Given the description of an element on the screen output the (x, y) to click on. 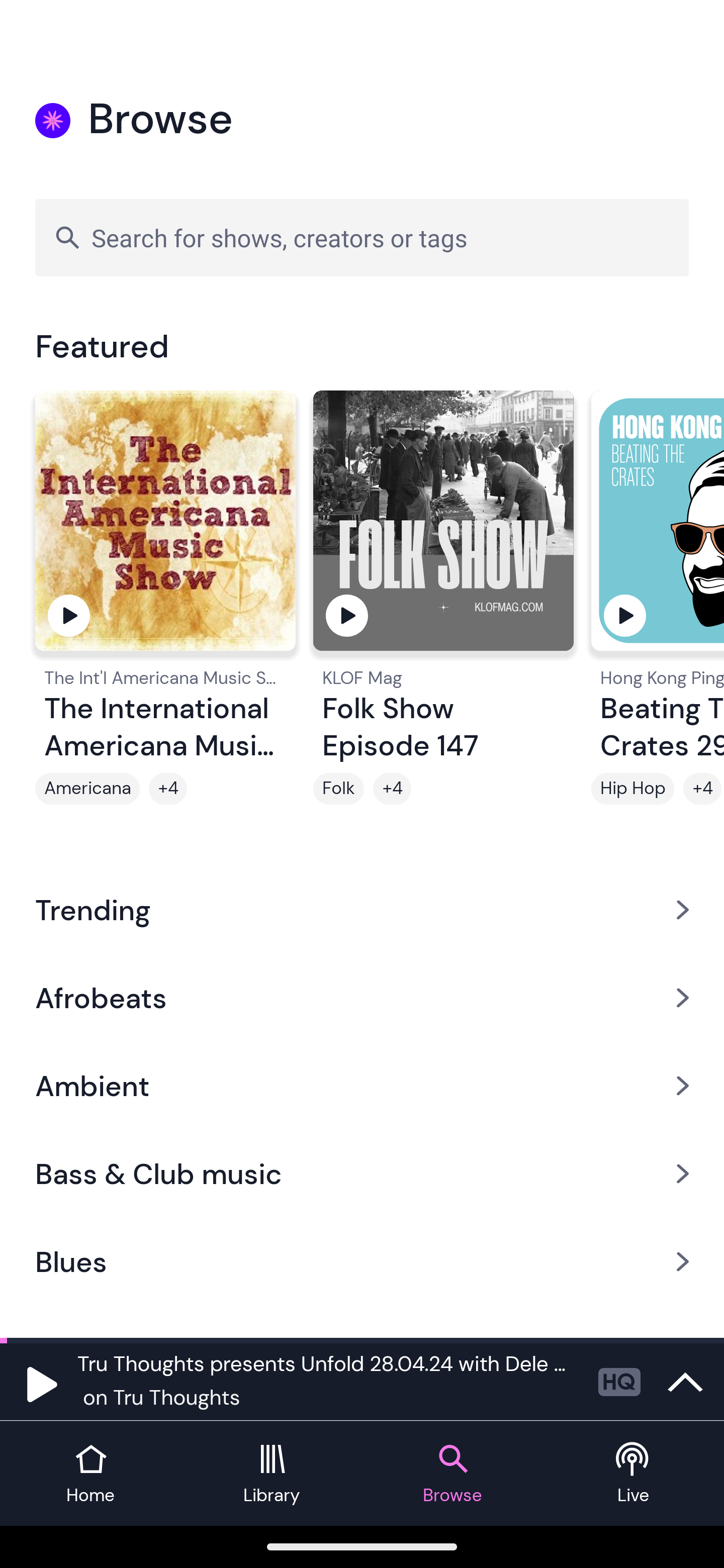
Search for shows, creators or tags (361, 237)
Americana (87, 788)
Folk (338, 788)
Hip Hop (632, 788)
Trending (361, 909)
Afrobeats (361, 997)
Ambient (361, 1085)
Bass & Club music (361, 1174)
Blues (361, 1262)
Home tab Home (90, 1473)
Library tab Library (271, 1473)
Browse tab Browse (452, 1473)
Live tab Live (633, 1473)
